Given the description of an element on the screen output the (x, y) to click on. 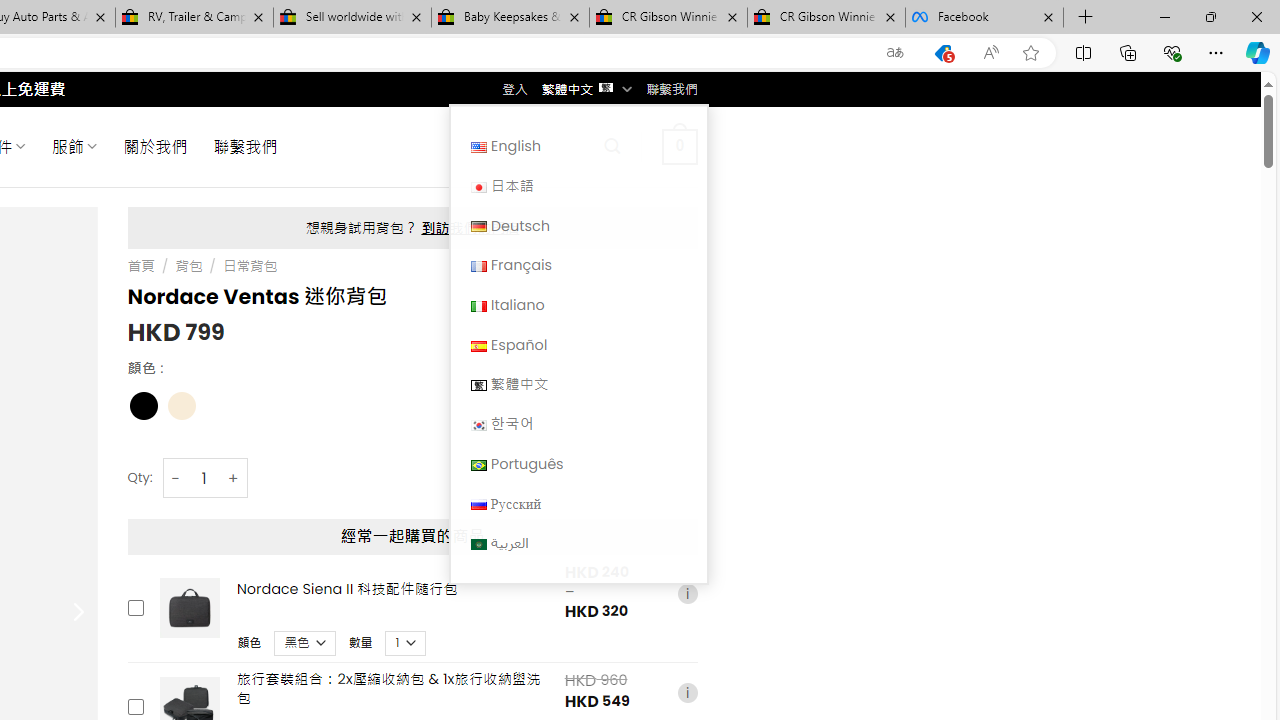
 English (578, 145)
English (478, 146)
+ (234, 477)
English English (578, 145)
